Given the description of an element on the screen output the (x, y) to click on. 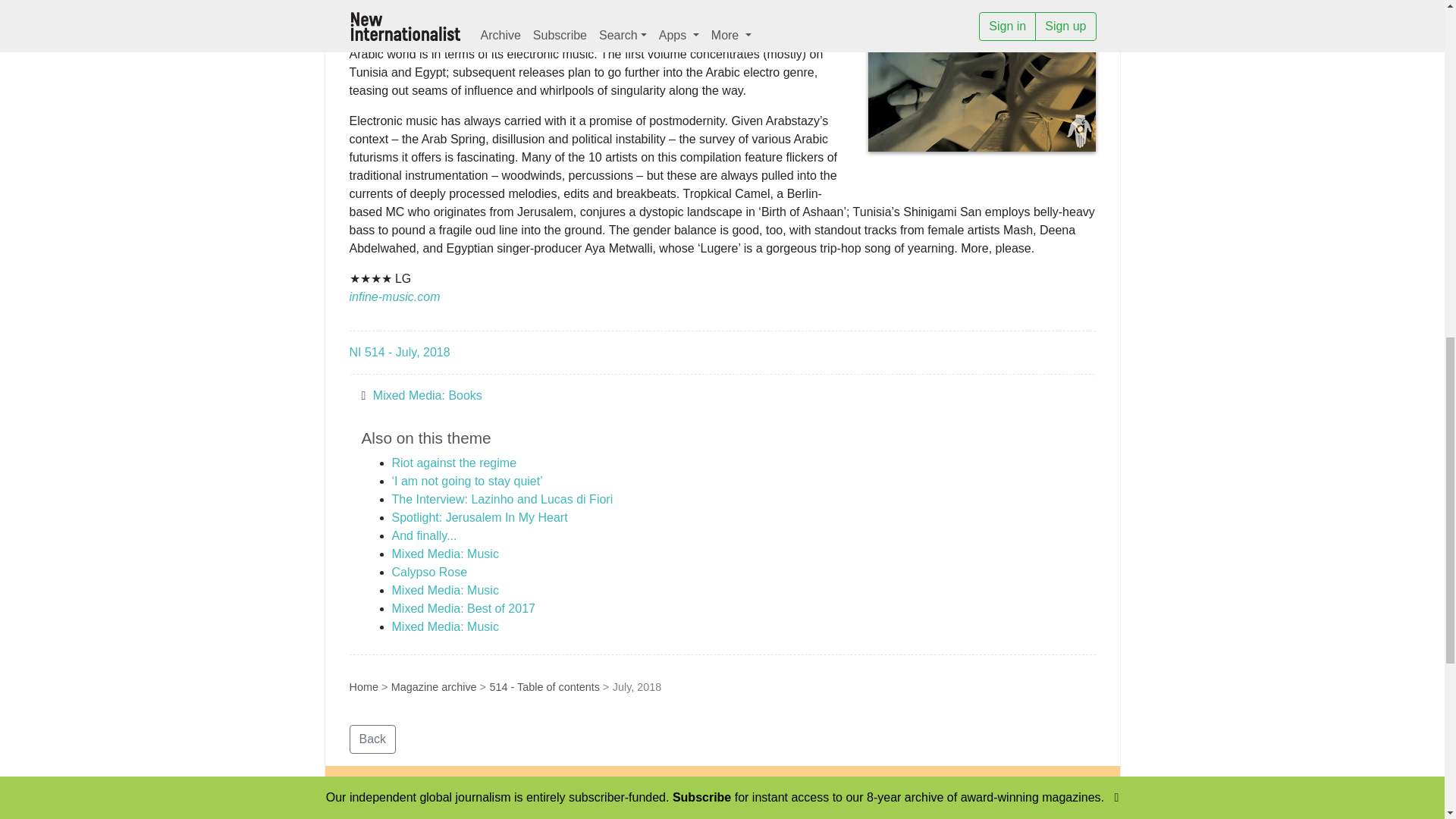
Mixed Media: Music (444, 590)
The Interview: Lazinho and Lucas di Fiori (501, 499)
Home (363, 686)
Mixed Media: Best of 2017 (462, 608)
Mixed Media: Music (444, 553)
NI 514 - July, 2018 (399, 351)
Mixed Media: Music (444, 626)
And finally... (424, 535)
Calypso Rose (429, 571)
Spotlight: Jerusalem In My Heart (479, 517)
infine-music.com (394, 296)
New Internationalist - The world unspun (413, 804)
Riot against the regime (453, 462)
Mixed Media: Books (426, 395)
